Given the description of an element on the screen output the (x, y) to click on. 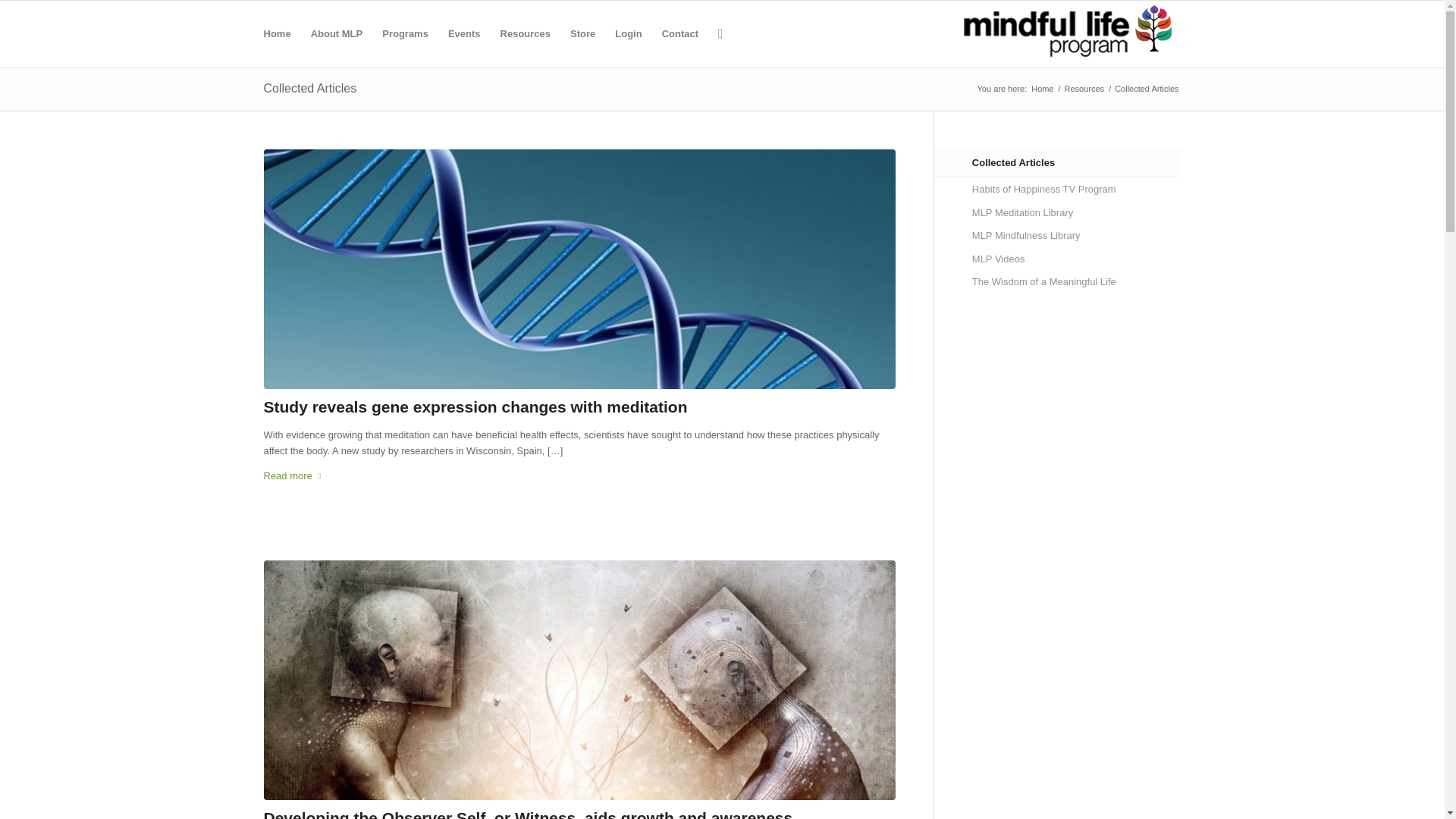
Resources (1084, 89)
About MLP (336, 33)
Collected Articles (309, 88)
Resources (525, 33)
Home (1042, 89)
Mindful-Life-Stacked2-w-tree (1068, 33)
Programs (405, 33)
